Given the description of an element on the screen output the (x, y) to click on. 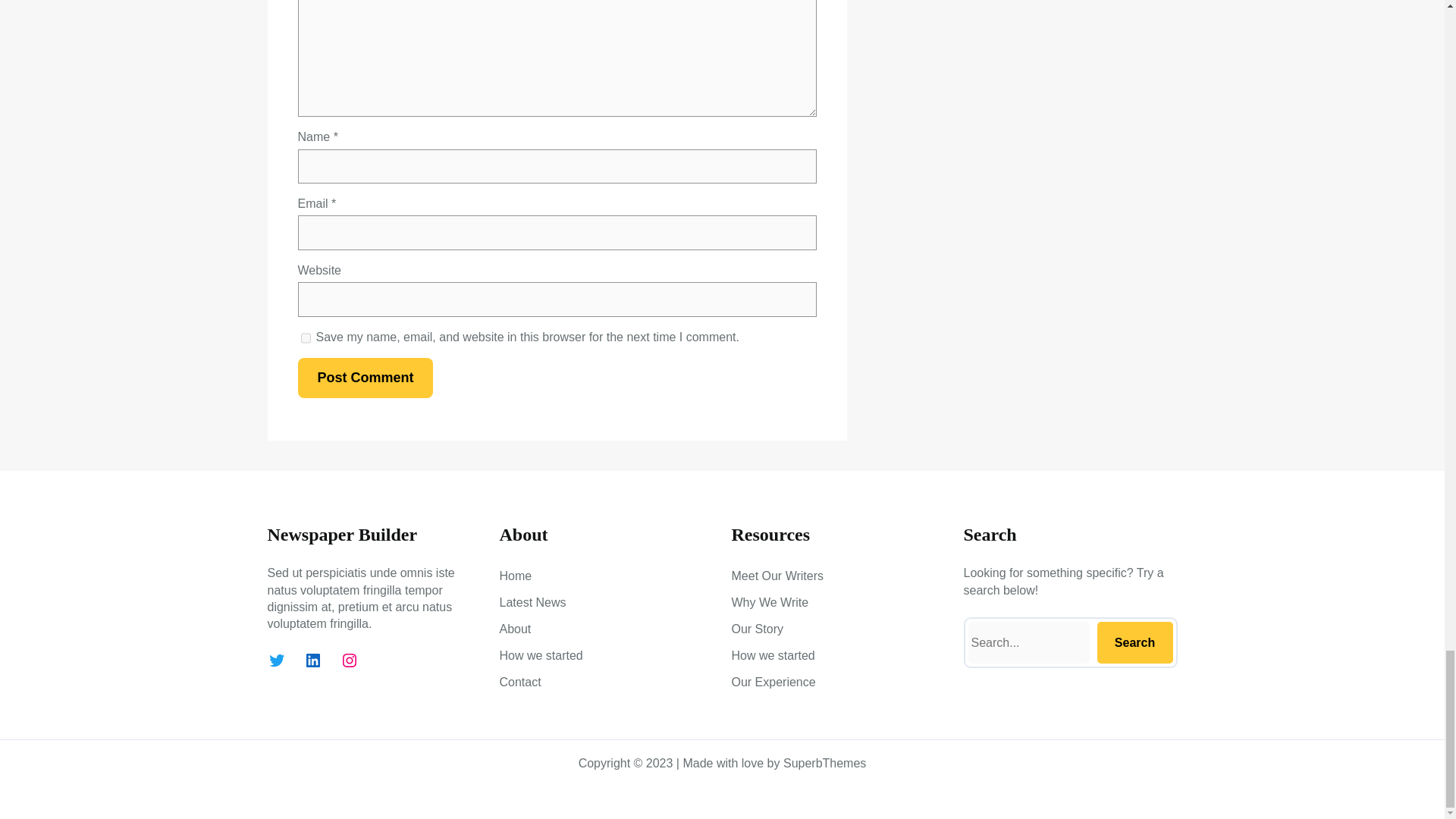
yes (304, 337)
Home (515, 576)
Twitter (275, 660)
Instagram (348, 660)
Post Comment (364, 377)
LinkedIn (311, 660)
Post Comment (364, 377)
